Given the description of an element on the screen output the (x, y) to click on. 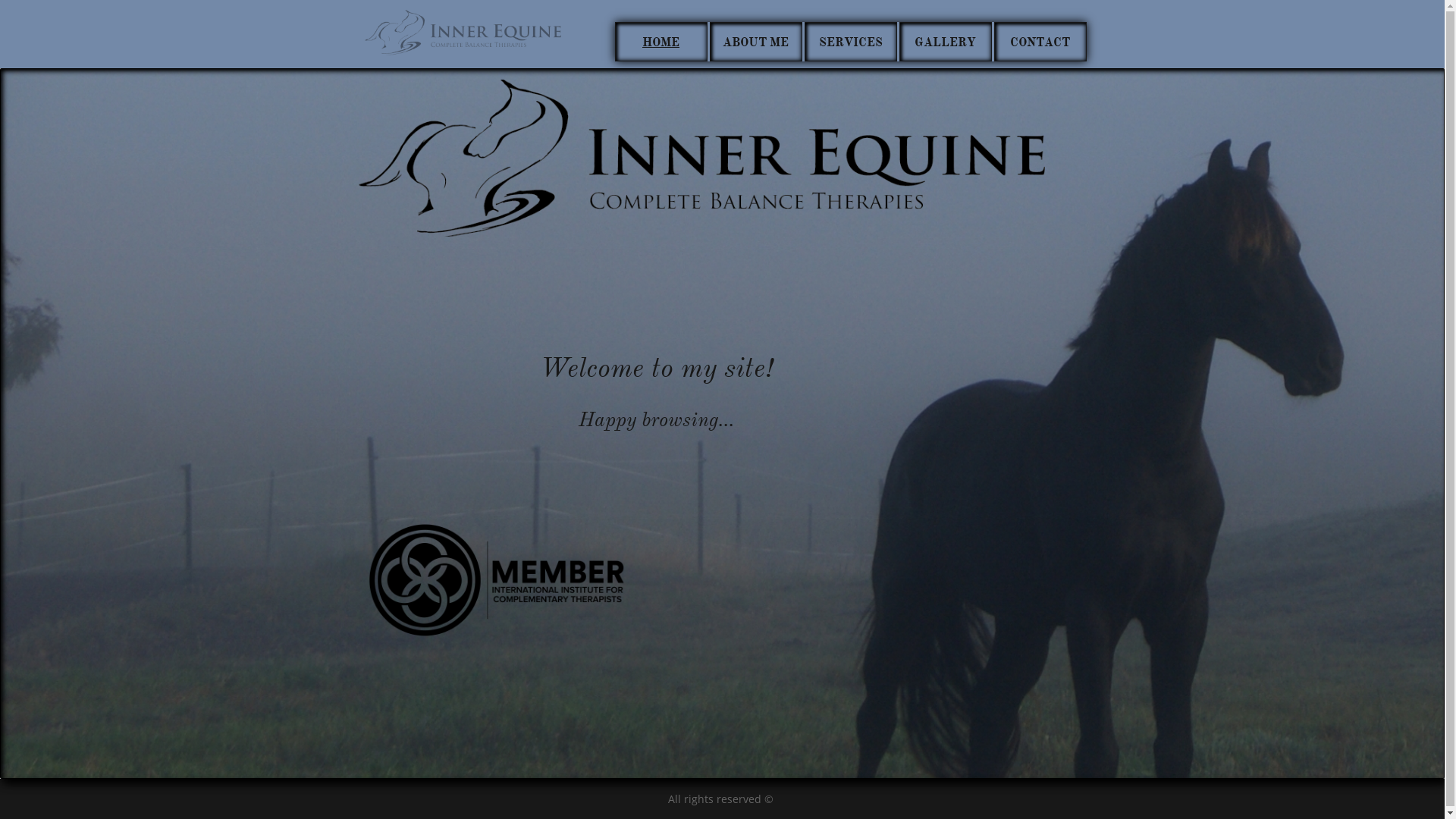
HOME Element type: text (660, 41)
ABOUT ME Element type: text (755, 41)
SERVICES Element type: text (849, 41)
CONTACT Element type: text (1039, 41)
GALLERY Element type: text (945, 41)
